Given the description of an element on the screen output the (x, y) to click on. 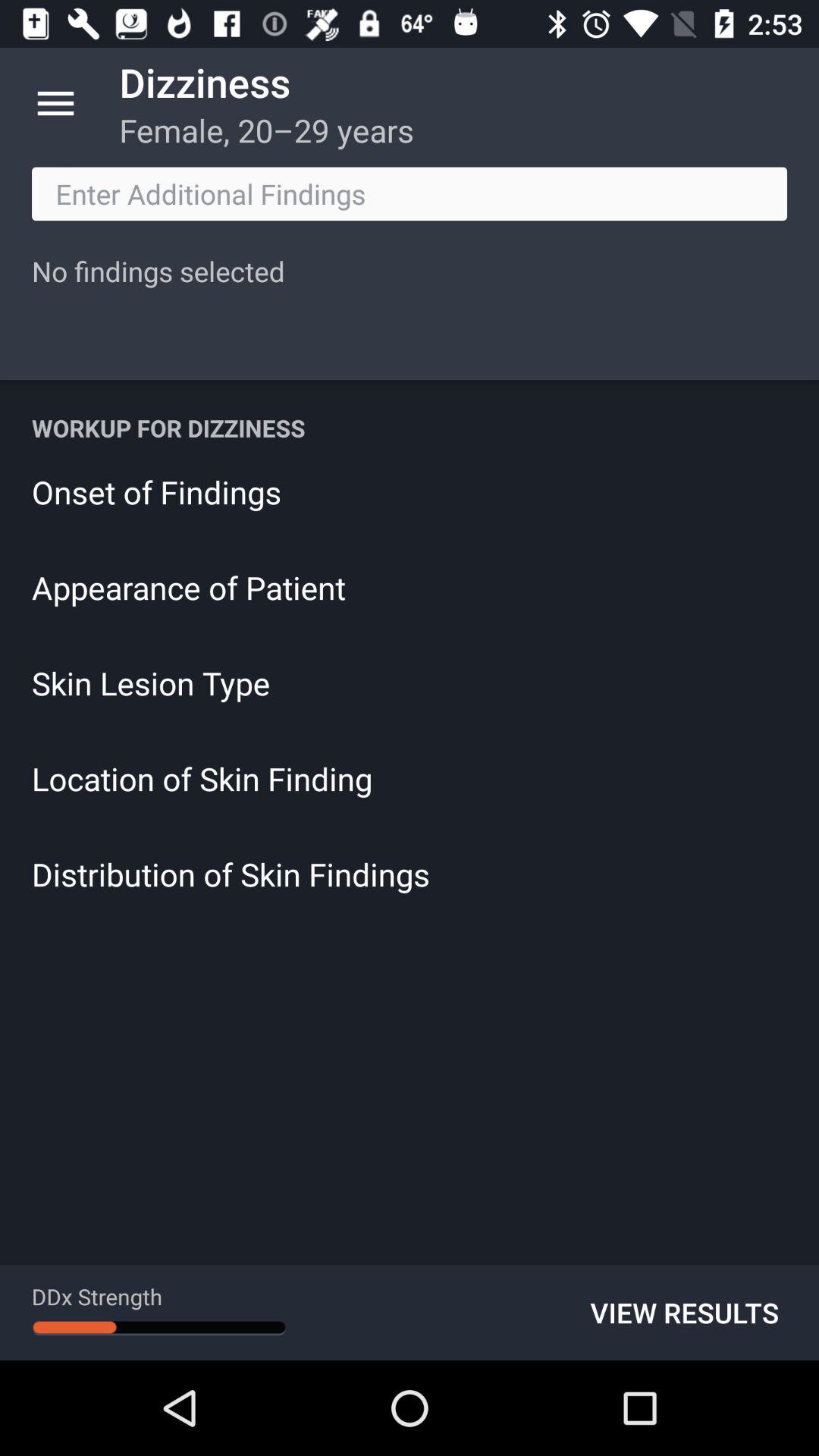
press icon below onset of findings icon (409, 587)
